Given the description of an element on the screen output the (x, y) to click on. 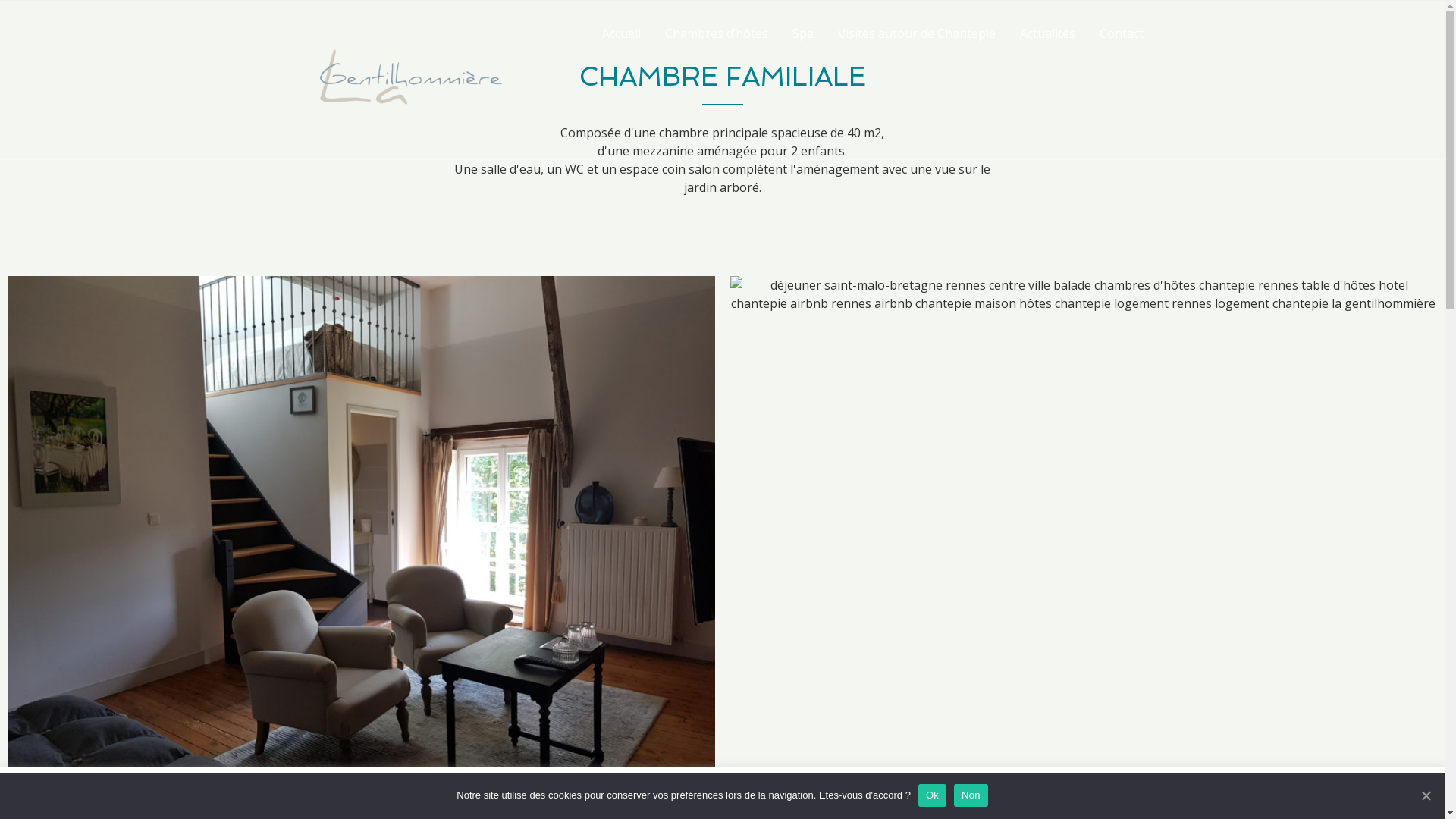
Ok Element type: text (932, 795)
Contact Element type: text (1121, 33)
Non Element type: text (970, 795)
Accueil Element type: text (621, 33)
Spa Element type: text (801, 33)
Cookie Settings Element type: text (1338, 792)
Visites autour de Chantepie Element type: text (915, 33)
Oui Element type: text (1408, 792)
